Given the description of an element on the screen output the (x, y) to click on. 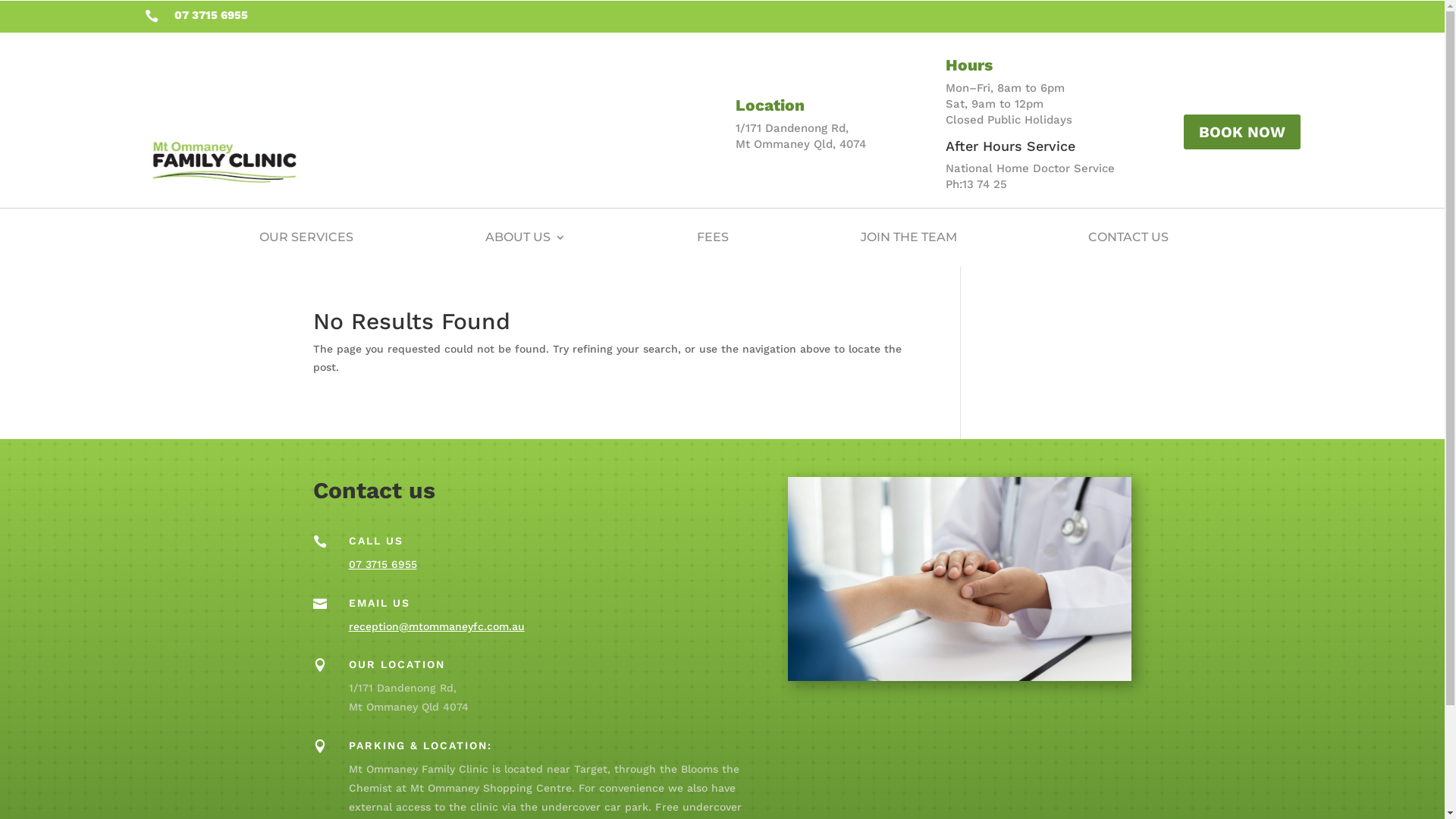
BOOK NOW Element type: text (1241, 131)
OUR SERVICES Element type: text (306, 237)
reception@mtommaneyfc.com.au Element type: text (436, 626)
medical-treatment-BCEPQ75 Element type: hover (959, 578)
JOIN THE TEAM Element type: text (907, 237)
07 3715 6955 Element type: text (382, 564)
FEES Element type: text (712, 237)
ABOUT US Element type: text (525, 237)
CONTACT US Element type: text (1128, 237)
